Given the description of an element on the screen output the (x, y) to click on. 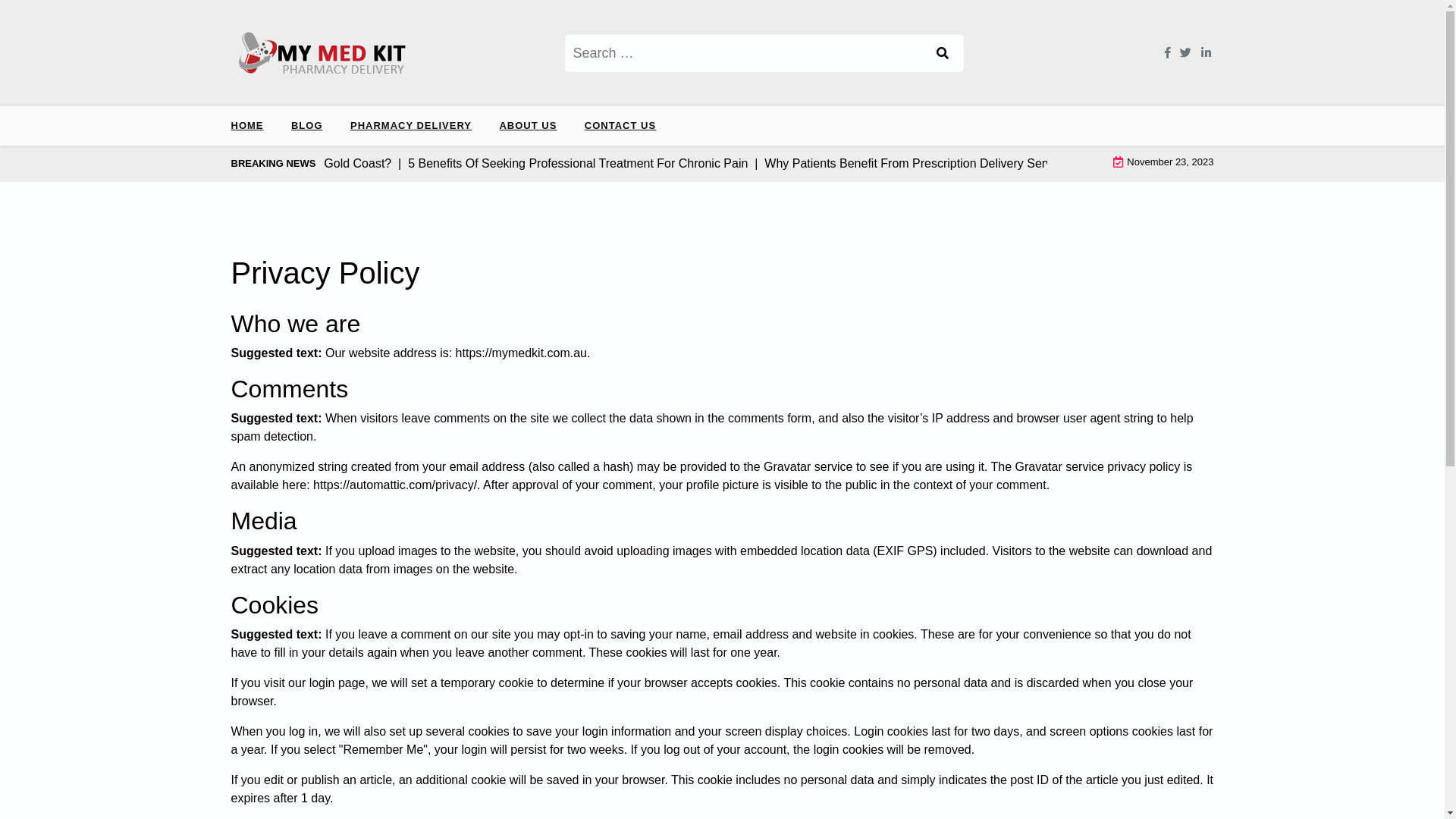
Search Element type: text (944, 53)
PHARMACY DELIVERY Element type: text (410, 125)
ABOUT US Element type: text (527, 125)
CONTACT US Element type: text (620, 125)
HOME Element type: text (252, 125)
BLOG Element type: text (307, 125)
